Given the description of an element on the screen output the (x, y) to click on. 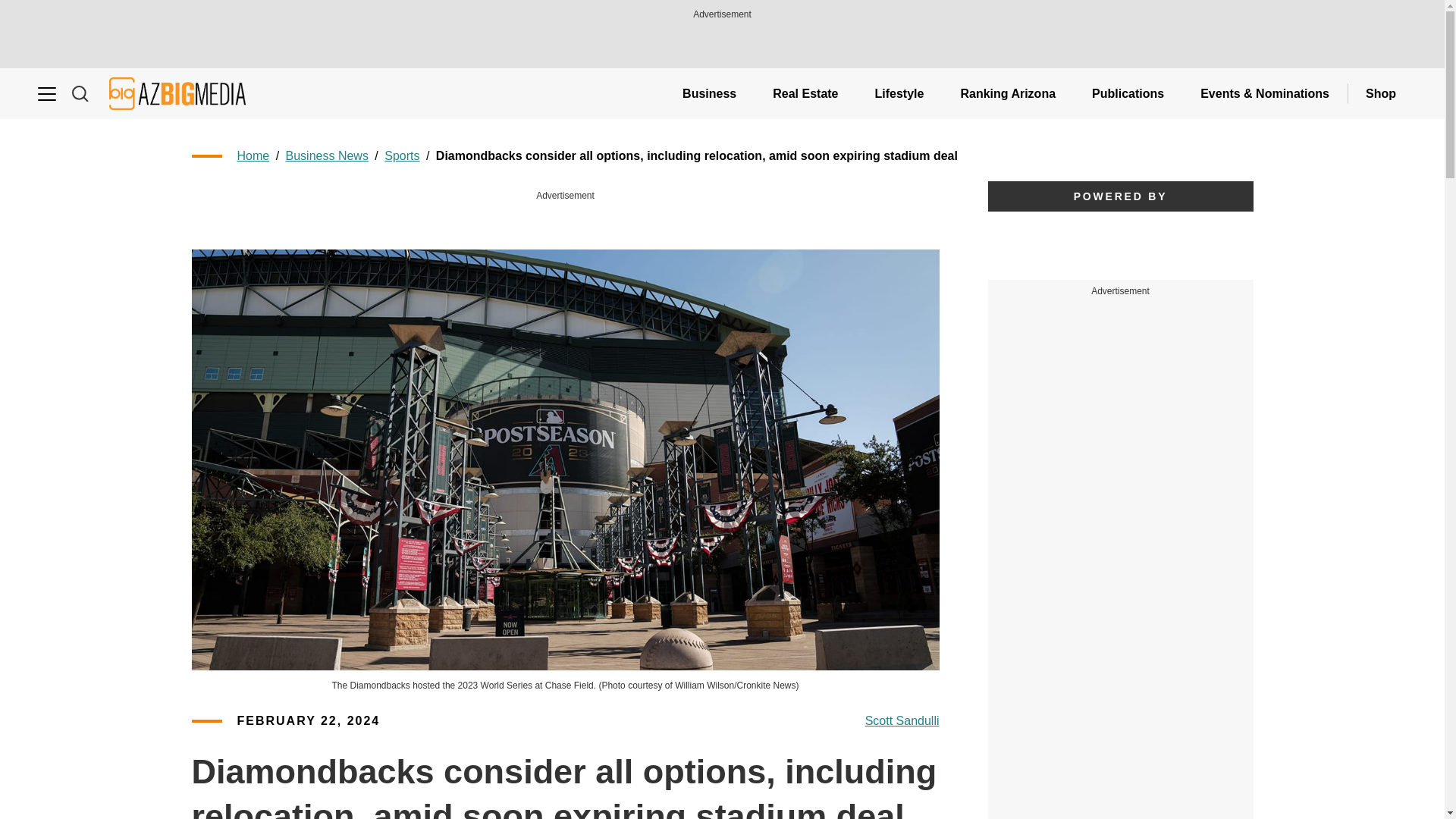
Business (708, 92)
Posts by Scott Sandulli (901, 721)
AZ Big Media Logo (177, 92)
